Given the description of an element on the screen output the (x, y) to click on. 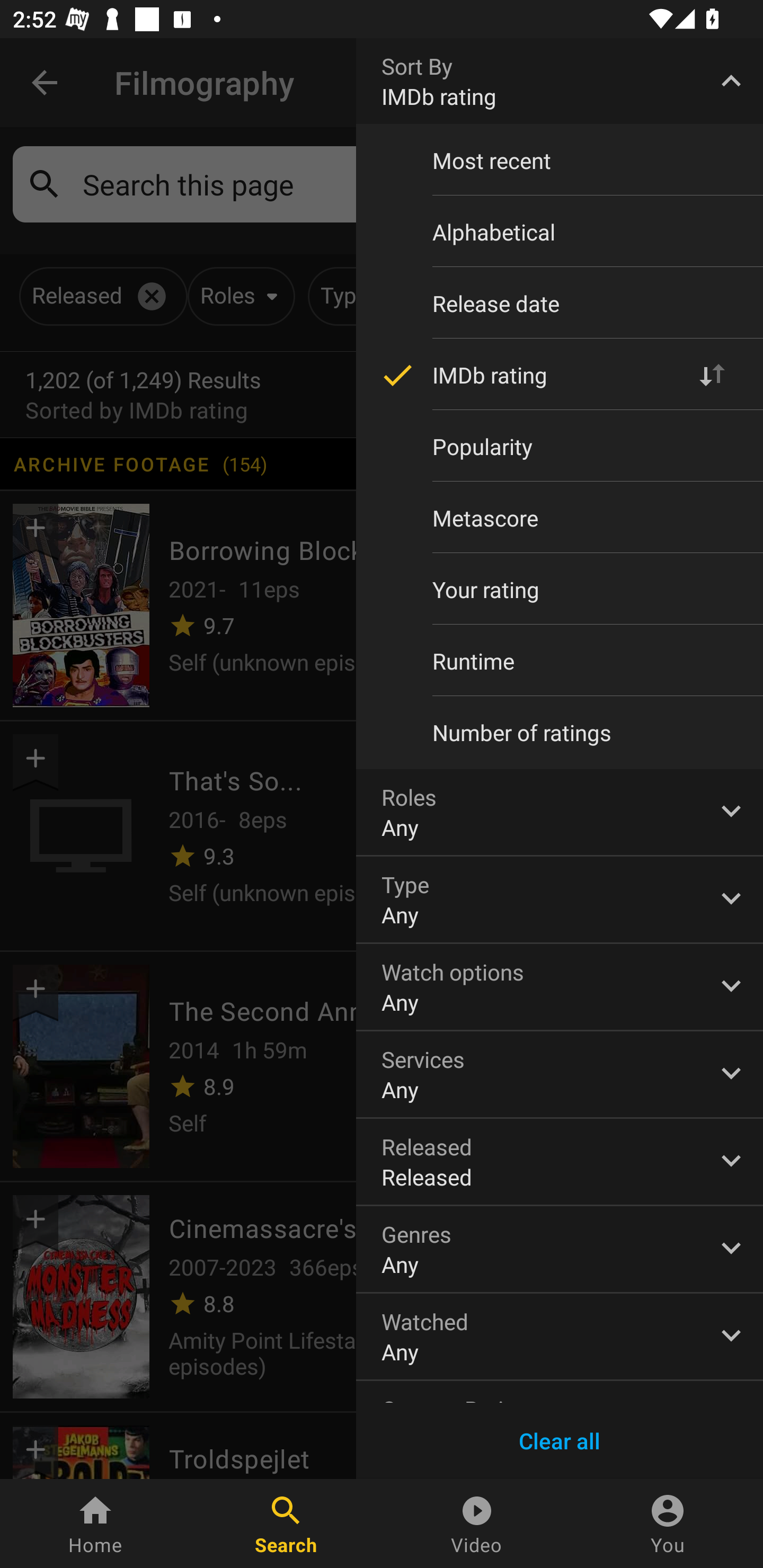
Sort By IMDb rating (559, 80)
Most recent (559, 160)
Alphabetical (559, 231)
Release date (559, 303)
IMDb rating (559, 374)
Popularity (559, 445)
Metascore (559, 517)
Your rating (559, 589)
Runtime (559, 660)
Number of ratings (559, 732)
Roles Any (559, 811)
Type Any (559, 899)
Watch options Any (559, 986)
Services Any (559, 1073)
Released (559, 1161)
Genres Any (559, 1248)
Watched Any (559, 1336)
Clear all (559, 1440)
Home (95, 1523)
Video (476, 1523)
You (667, 1523)
